Given the description of an element on the screen output the (x, y) to click on. 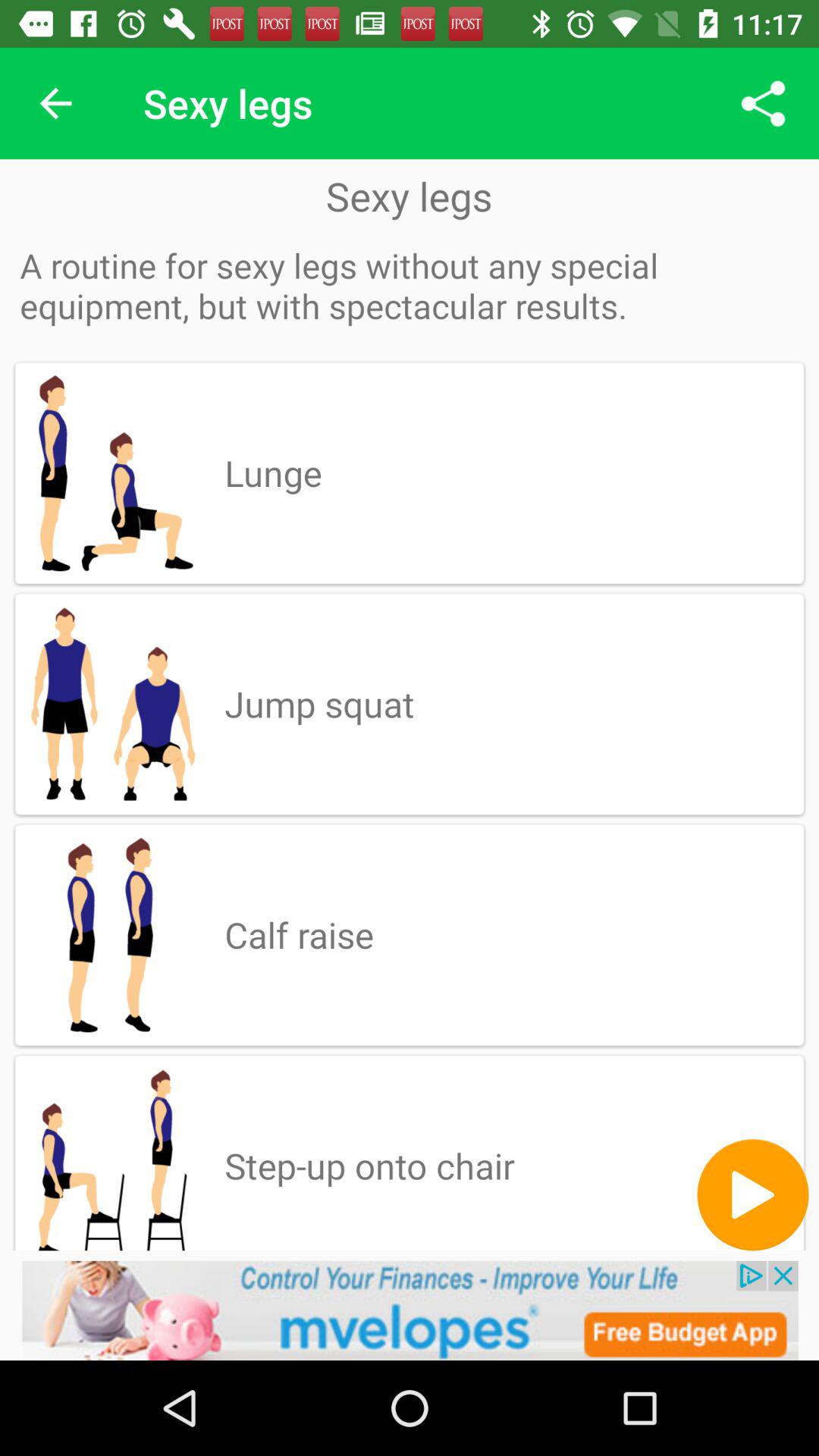
view advertisement (409, 1310)
